Given the description of an element on the screen output the (x, y) to click on. 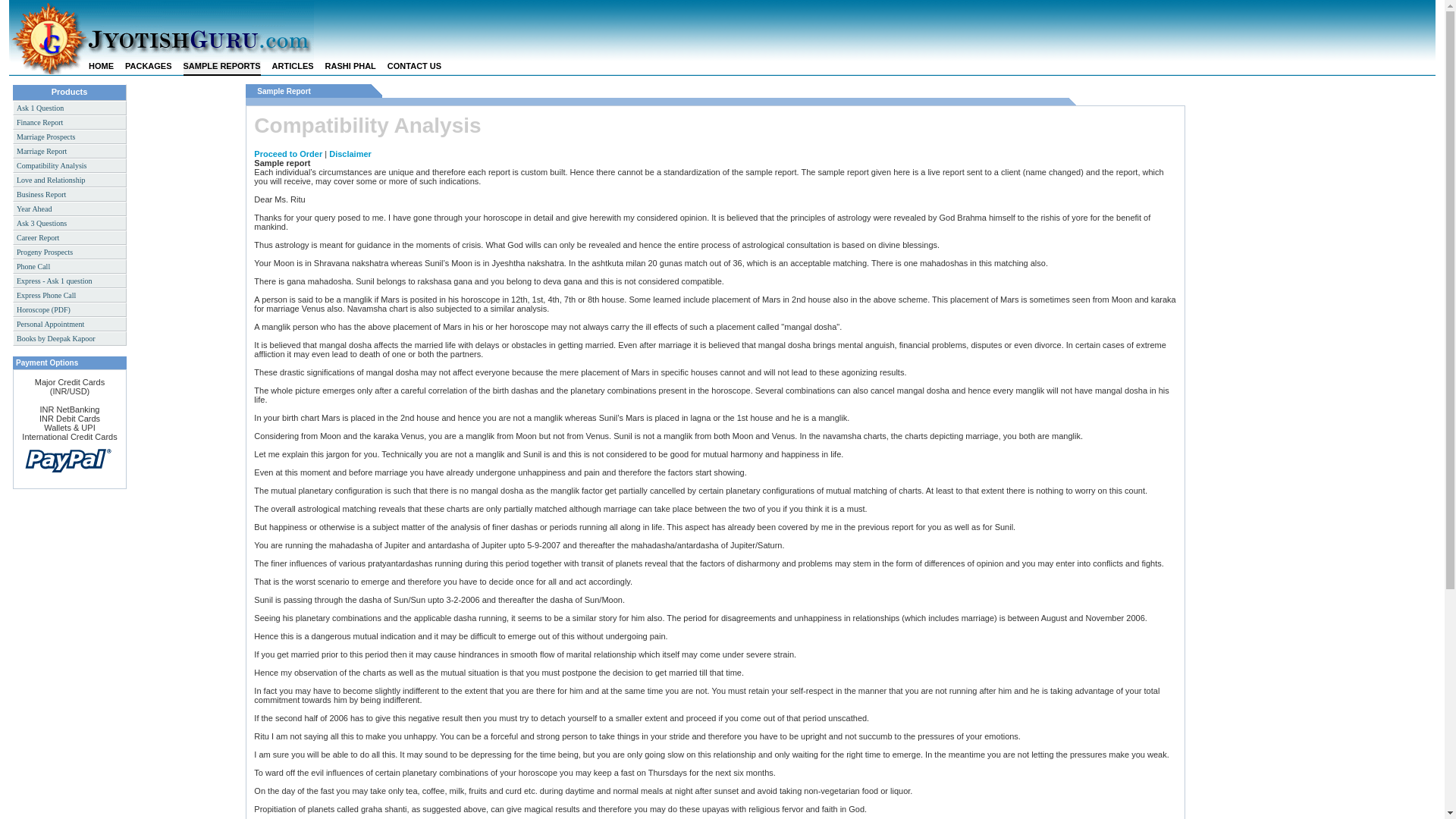
Weekly rashi phal video. (349, 66)
List of packages offered by us. (148, 66)
Proceed to Order (287, 153)
RASHI PHAL (349, 66)
Business Report (69, 194)
Marriage Prospects (69, 136)
Love and Relationship (69, 179)
The home of Deepak Kapoor on the Web, JyotishGuru.com (100, 66)
Express Phone Call (69, 295)
CONTACT US (414, 66)
Click here to get in touch with us. (414, 66)
Compatibility Analysis (69, 165)
ARTICLES (293, 66)
Year Ahead (69, 208)
Year Ahead (69, 208)
